Given the description of an element on the screen output the (x, y) to click on. 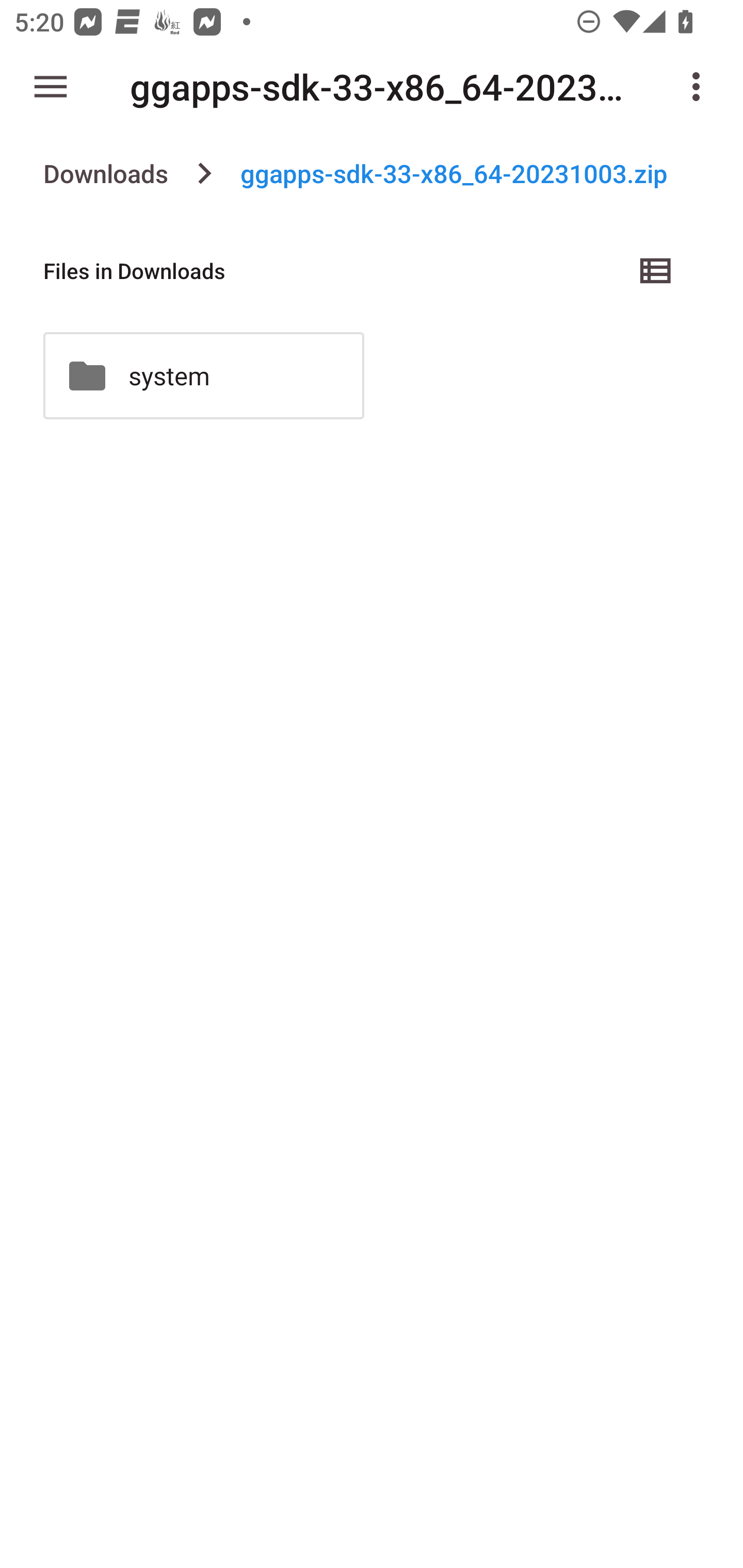
Show roots (50, 86)
More options (699, 86)
List view (655, 270)
system (203, 375)
